Given the description of an element on the screen output the (x, y) to click on. 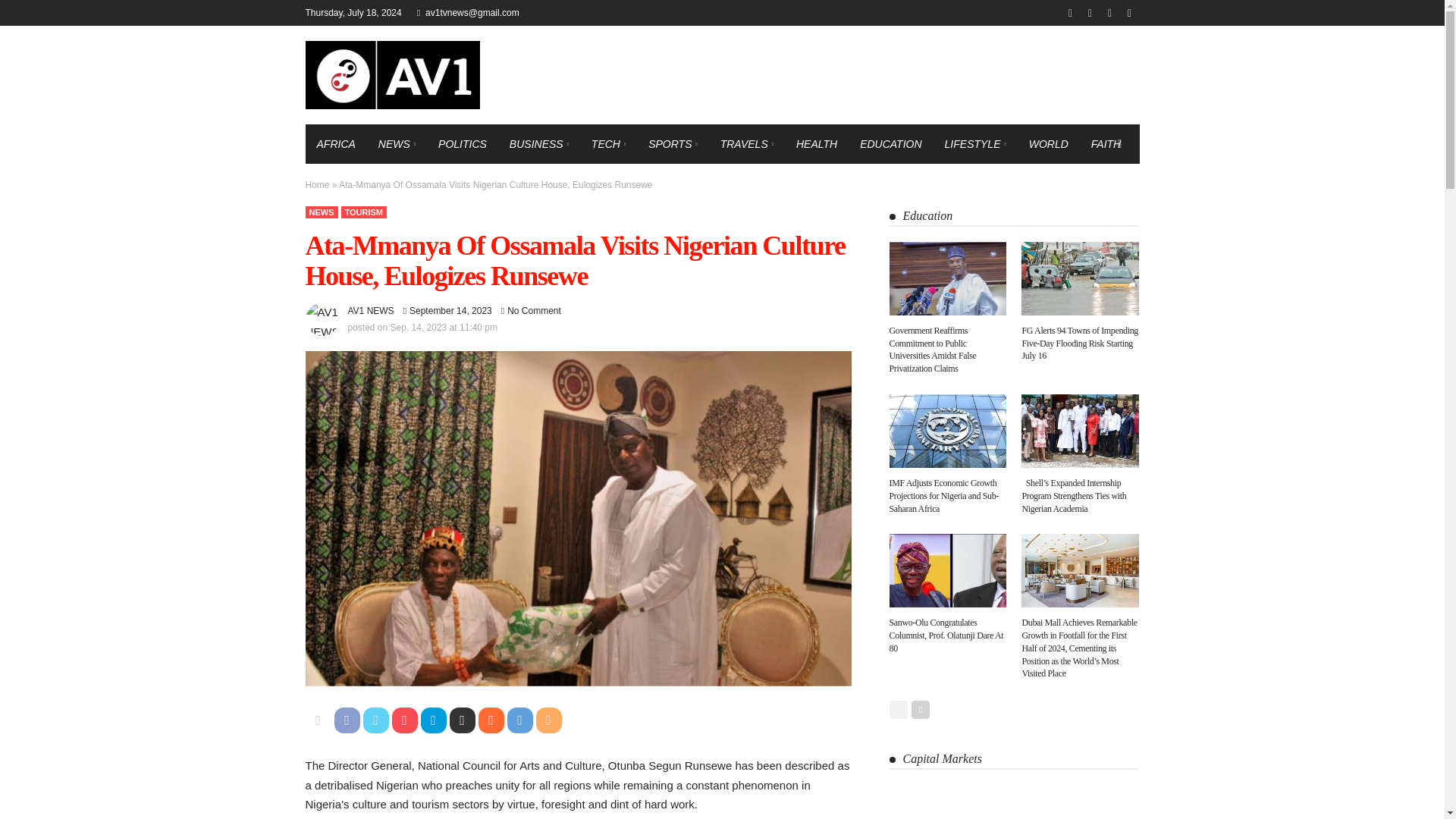
search (1118, 143)
News (320, 212)
Tourism (363, 212)
